Given the description of an element on the screen output the (x, y) to click on. 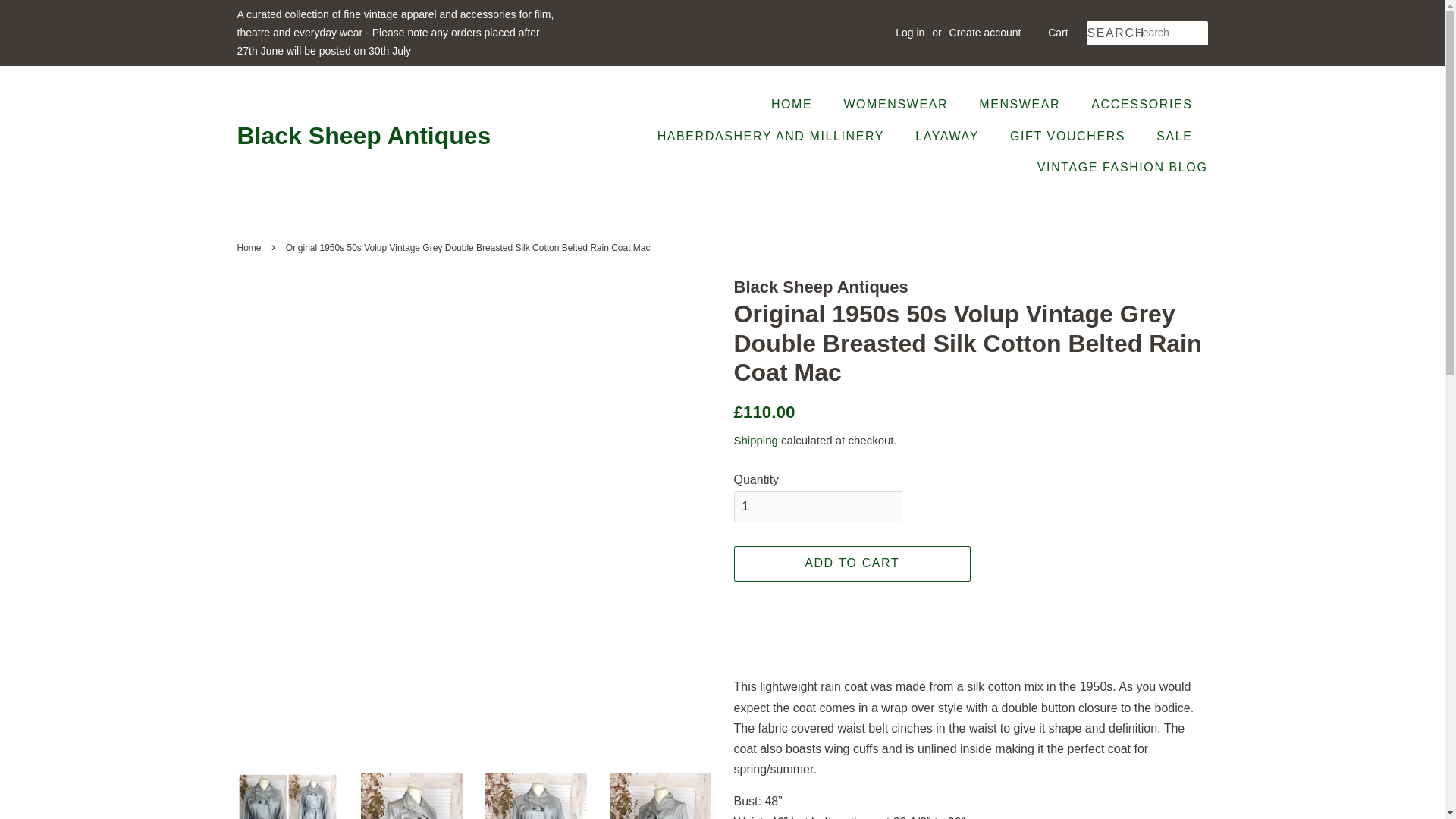
Cart (1057, 33)
SEARCH (1110, 33)
Back to the frontpage (249, 247)
Create account (985, 32)
1 (817, 506)
Black Sheep Antiques (362, 135)
HOME (799, 103)
Log in (909, 32)
